Given the description of an element on the screen output the (x, y) to click on. 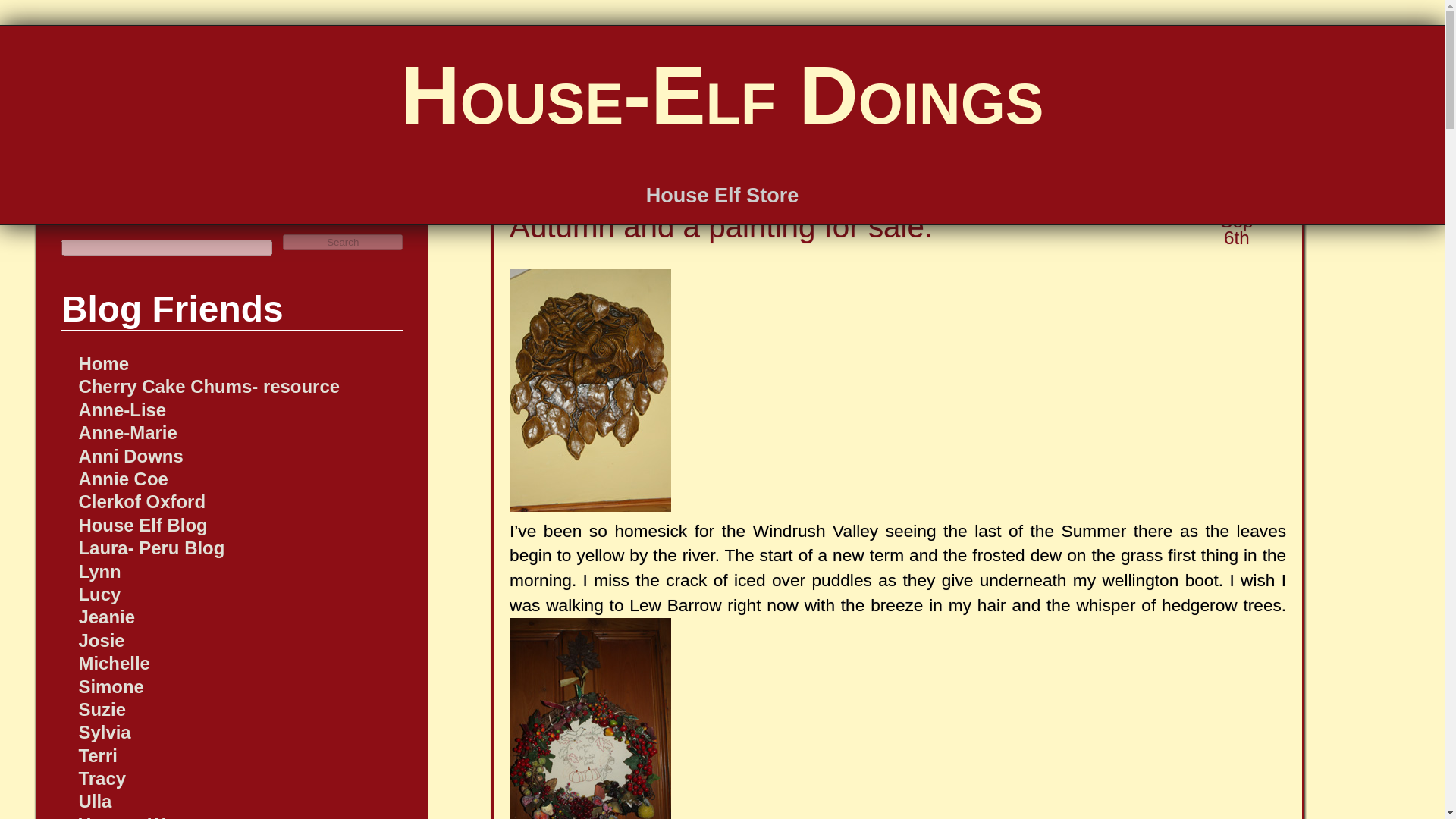
Cherry Cake Chums- resource (208, 385)
Lucy (99, 593)
Anne-Lise (121, 409)
House Elf Blog (142, 525)
Lynn (99, 571)
Search (342, 242)
House Elf Store (722, 195)
Laura- Peru Blog (151, 547)
Clerkof Oxford (141, 501)
Anni Downs (130, 455)
Annie Coe (122, 478)
Home (103, 362)
Anne-Marie (127, 432)
House-Elf Doings (721, 94)
Jeanie (106, 616)
